Given the description of an element on the screen output the (x, y) to click on. 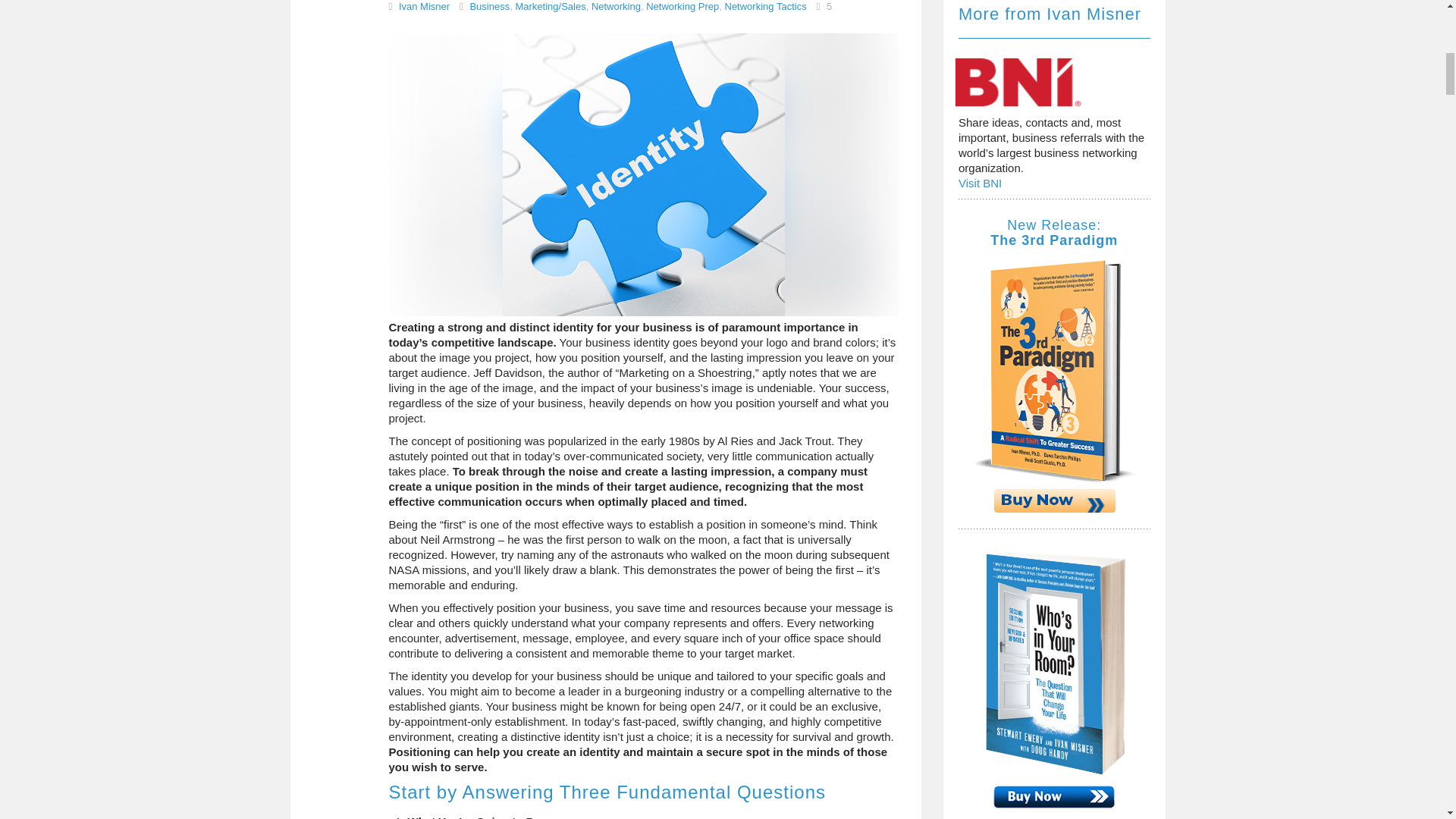
Ivan Misner (423, 6)
Networking Tactics (765, 6)
Business (488, 6)
Networking (615, 6)
Networking Prep (682, 6)
View all posts by Ivan Misner (423, 6)
